Given the description of an element on the screen output the (x, y) to click on. 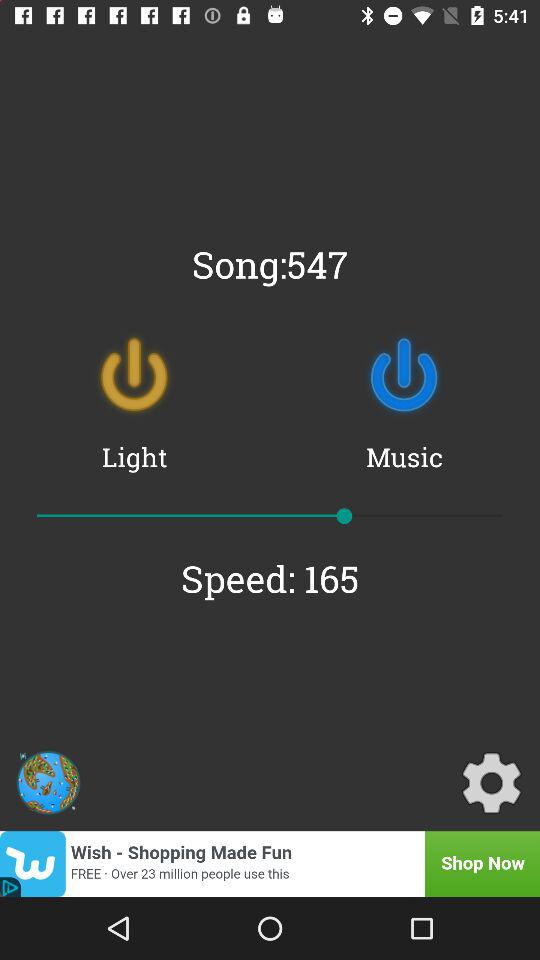
turn off icon above the music item (404, 375)
